Given the description of an element on the screen output the (x, y) to click on. 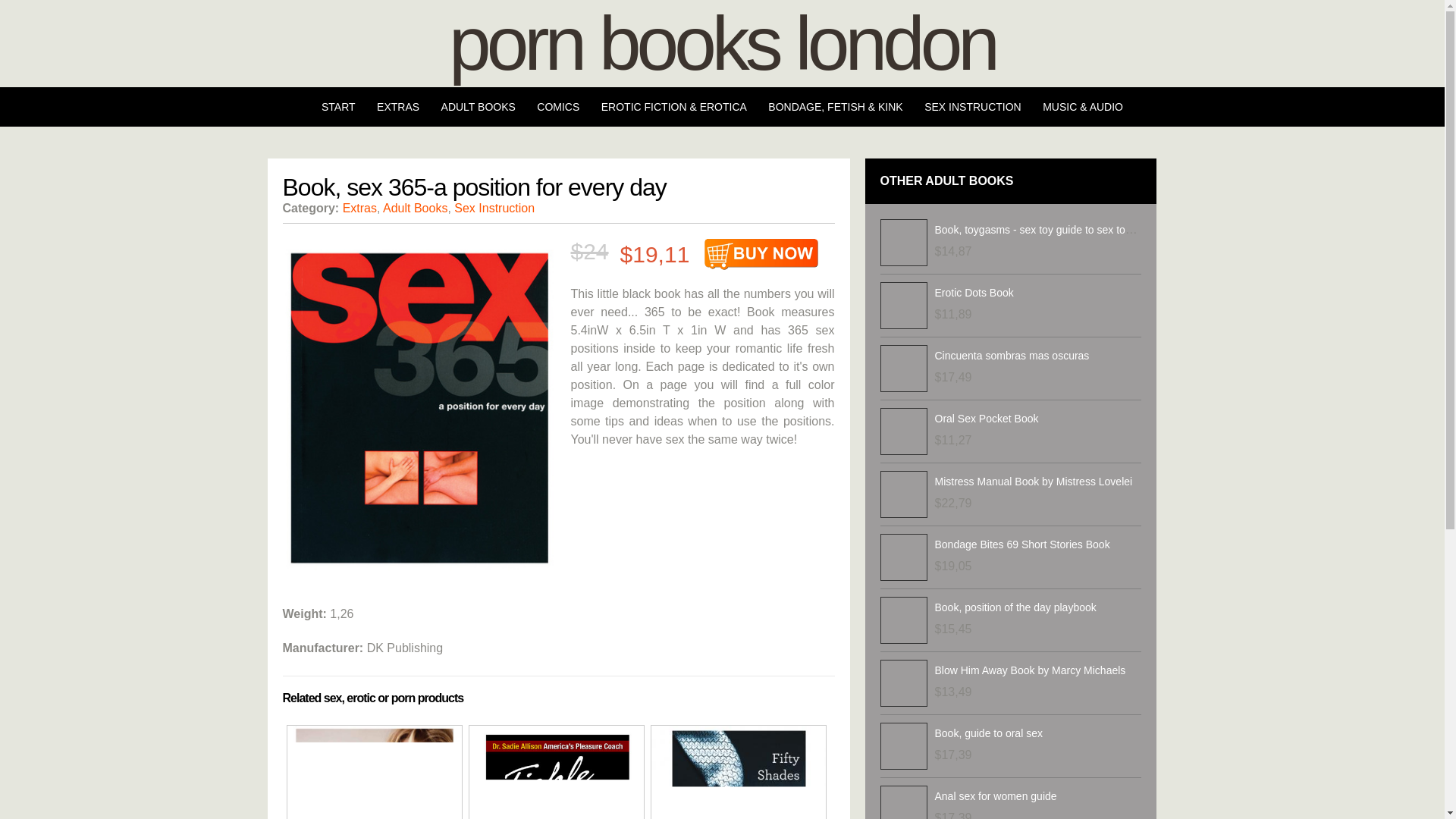
ADULT BOOKS (478, 106)
porn books london (721, 42)
Sex books:  (555, 771)
Bondage Bites 69 Short Stories Book (1021, 544)
Book, guide to oral sex (988, 733)
Blow Him Away Book by Marcy Michaels (1029, 670)
COMICS (557, 106)
SEX INSTRUCTION (972, 106)
Extras (359, 207)
Sex Instruction (494, 207)
Cosmos's Playbook For Guys A Guide To The Best Sex Ever Book (373, 771)
Adult Books (414, 207)
START (339, 106)
Cincuenta sombras mas oscuras (1011, 355)
